Given the description of an element on the screen output the (x, y) to click on. 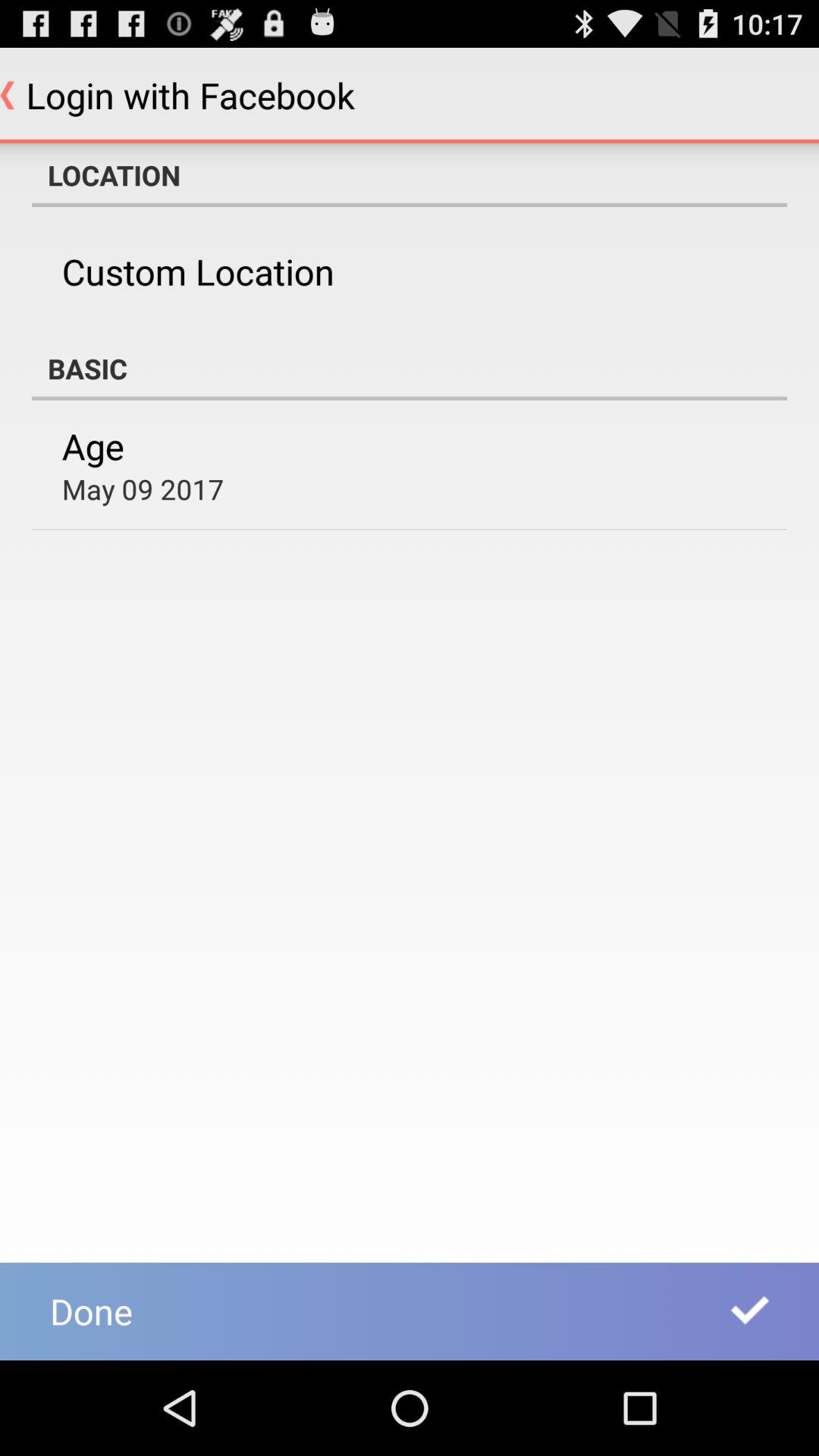
press item below the location icon (197, 271)
